Given the description of an element on the screen output the (x, y) to click on. 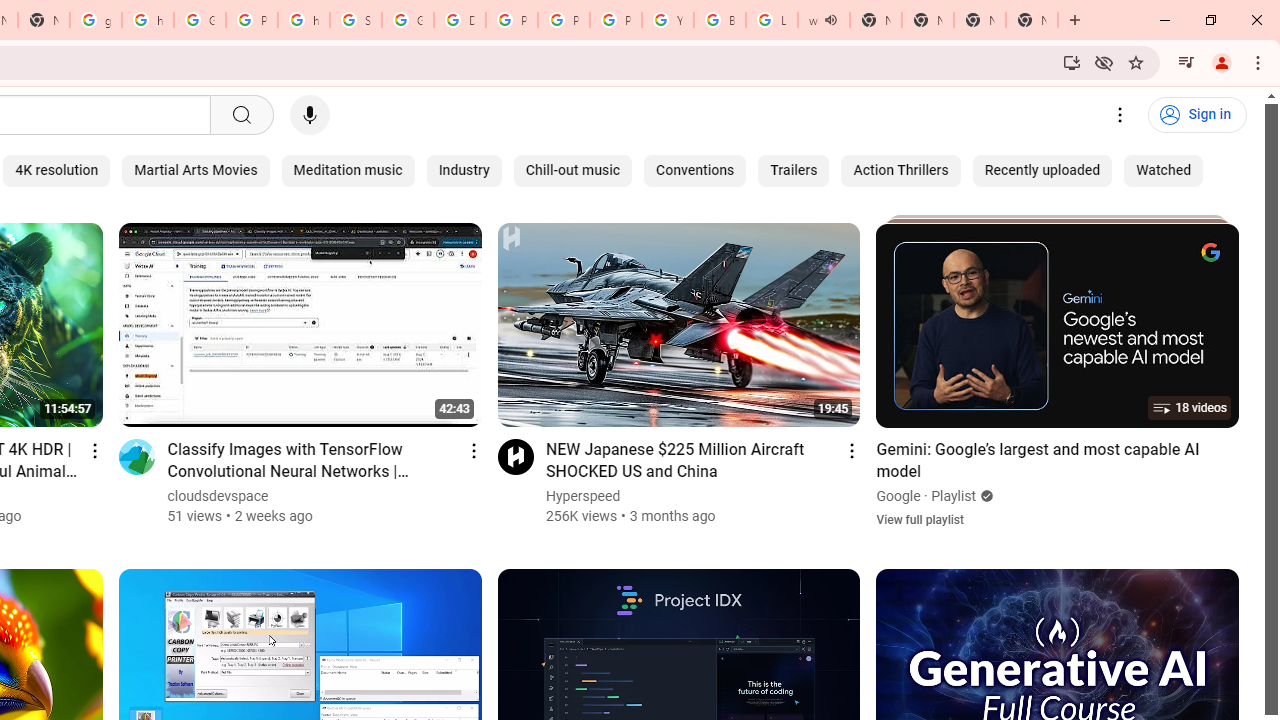
Trailers (793, 170)
New Tab (1032, 20)
Martial Arts Movies (195, 170)
Watched (1163, 170)
Install YouTube (1071, 62)
Industry (463, 170)
https://scholar.google.com/ (303, 20)
Mute tab (830, 20)
Third-party cookies blocked (1103, 62)
Search (240, 115)
Sign in (1197, 115)
